Given the description of an element on the screen output the (x, y) to click on. 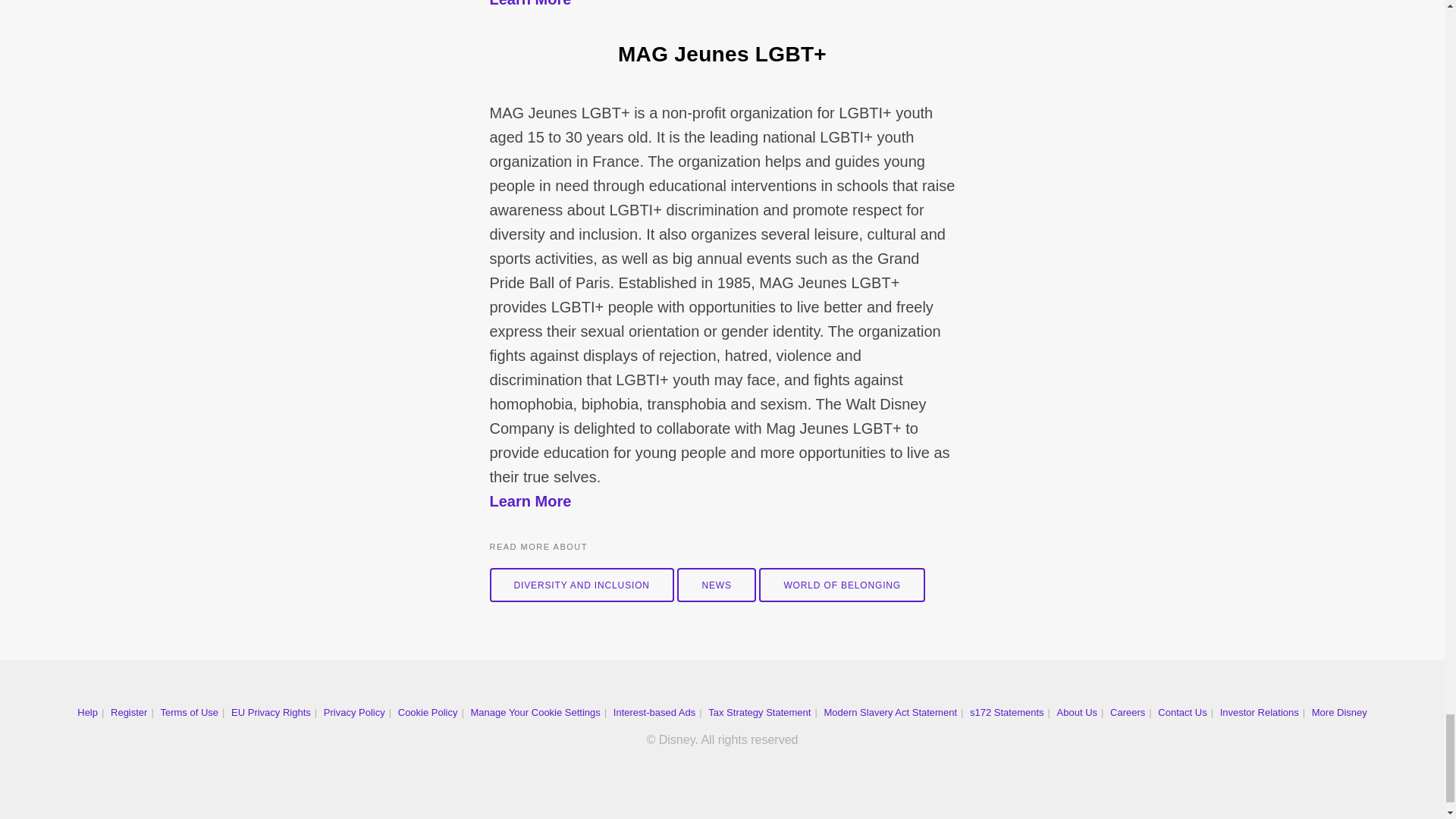
Learn More (530, 3)
